Given the description of an element on the screen output the (x, y) to click on. 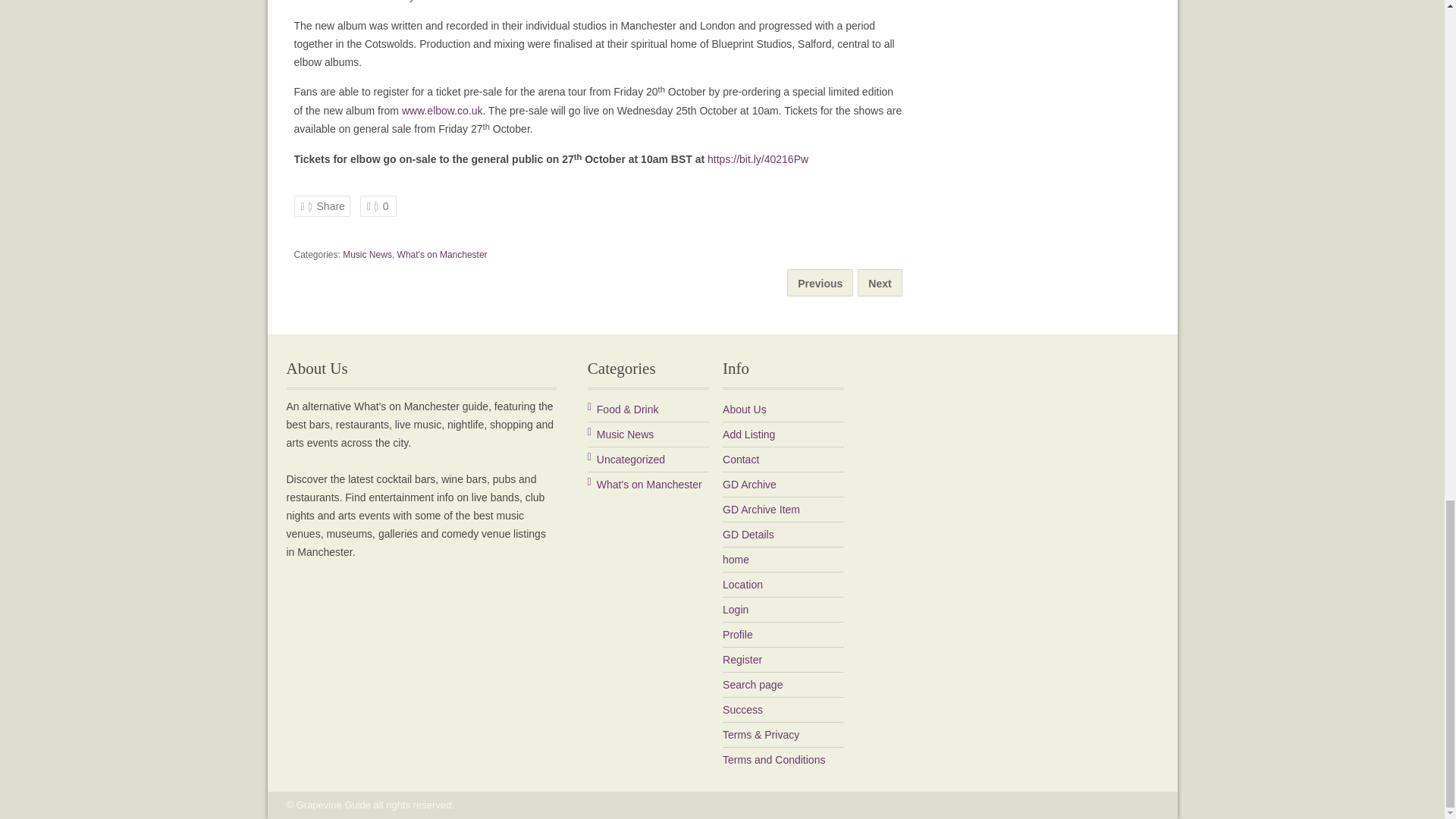
Music News (620, 434)
Previous (820, 283)
0 (378, 206)
Uncategorized (626, 459)
What's on Manchester (644, 484)
Add Listing (748, 434)
What's on Manchester (442, 254)
Next (880, 283)
About Us (744, 409)
GD Archive (749, 484)
Music News (366, 254)
www.elbow.co.uk (442, 110)
Share (322, 206)
Contact (740, 459)
